Given the description of an element on the screen output the (x, y) to click on. 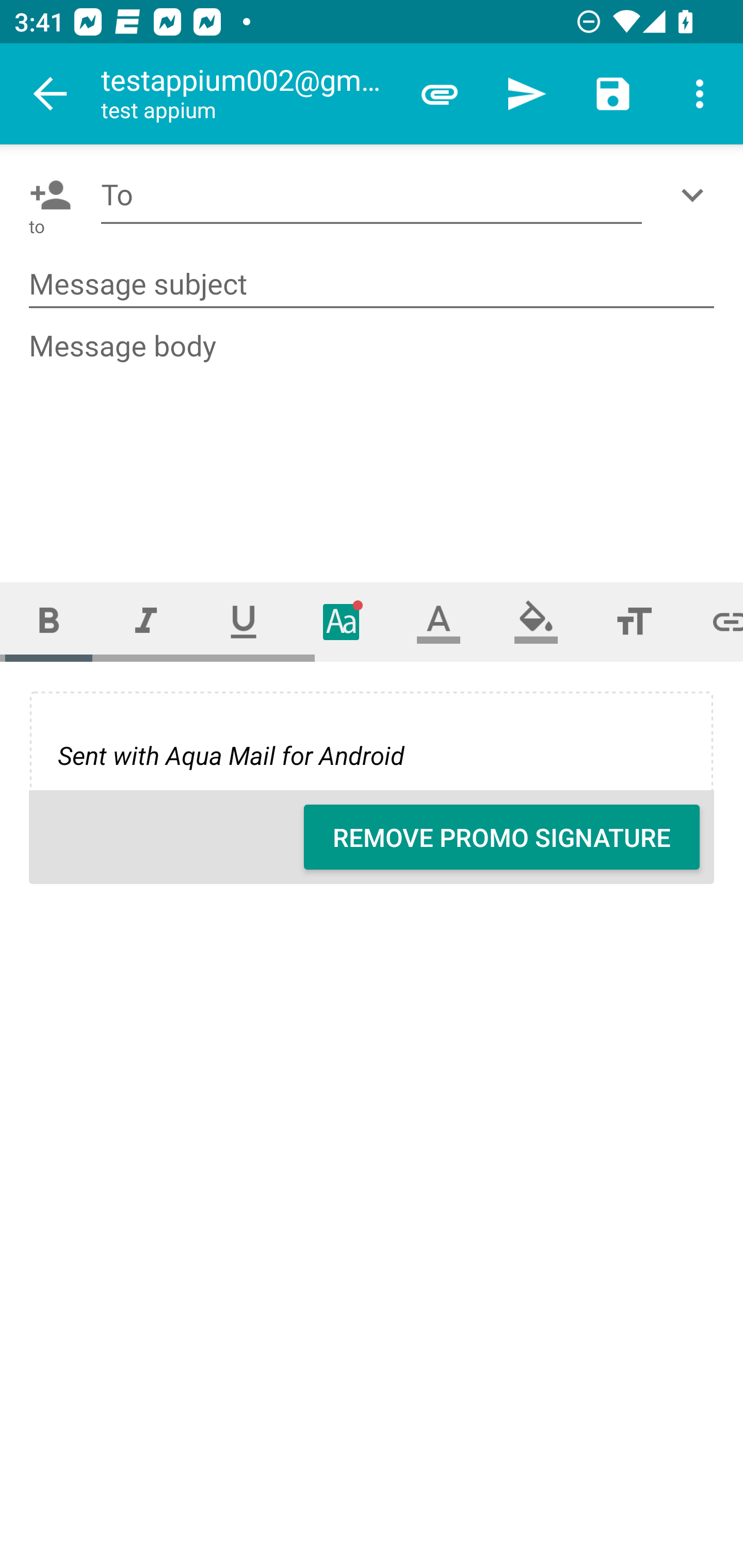
Navigate up (50, 93)
testappium002@gmail.com test appium (248, 93)
Attach (439, 93)
Send (525, 93)
Save (612, 93)
More options (699, 93)
Pick contact: To (46, 195)
Show/Add CC/BCC (696, 195)
To (371, 195)
Message subject (371, 284)
Message body (372, 438)
Bold (48, 621)
Italic (145, 621)
Underline (243, 621)
Typeface (font) (341, 621)
Text color (438, 621)
Fill color (536, 621)
Font size (633, 621)
Set link (712, 621)
REMOVE PROMO SIGNATURE (501, 837)
